Given the description of an element on the screen output the (x, y) to click on. 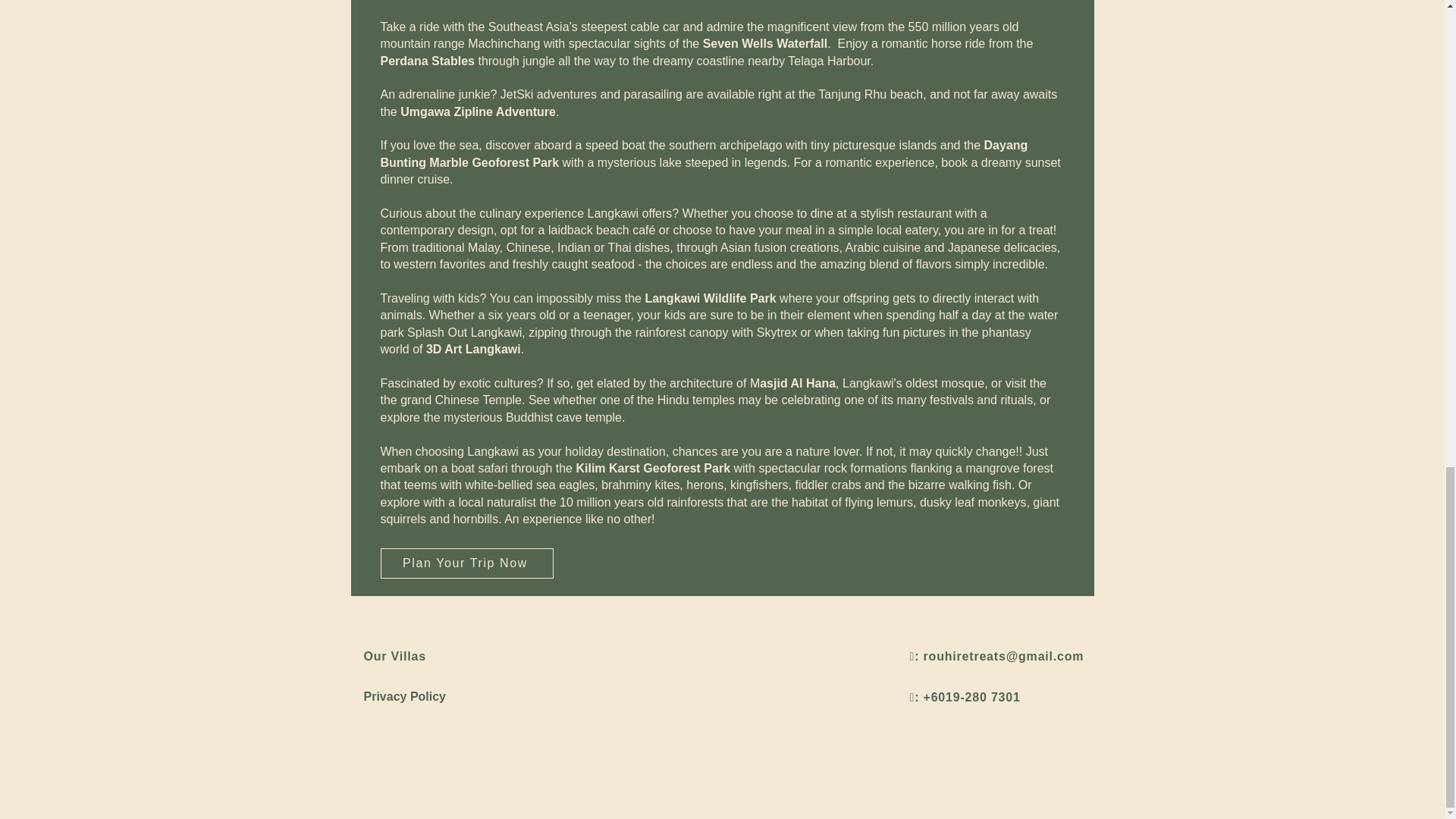
Privacy Policy (417, 696)
Plan Your Trip Now (466, 562)
Our Villas (395, 656)
